Given the description of an element on the screen output the (x, y) to click on. 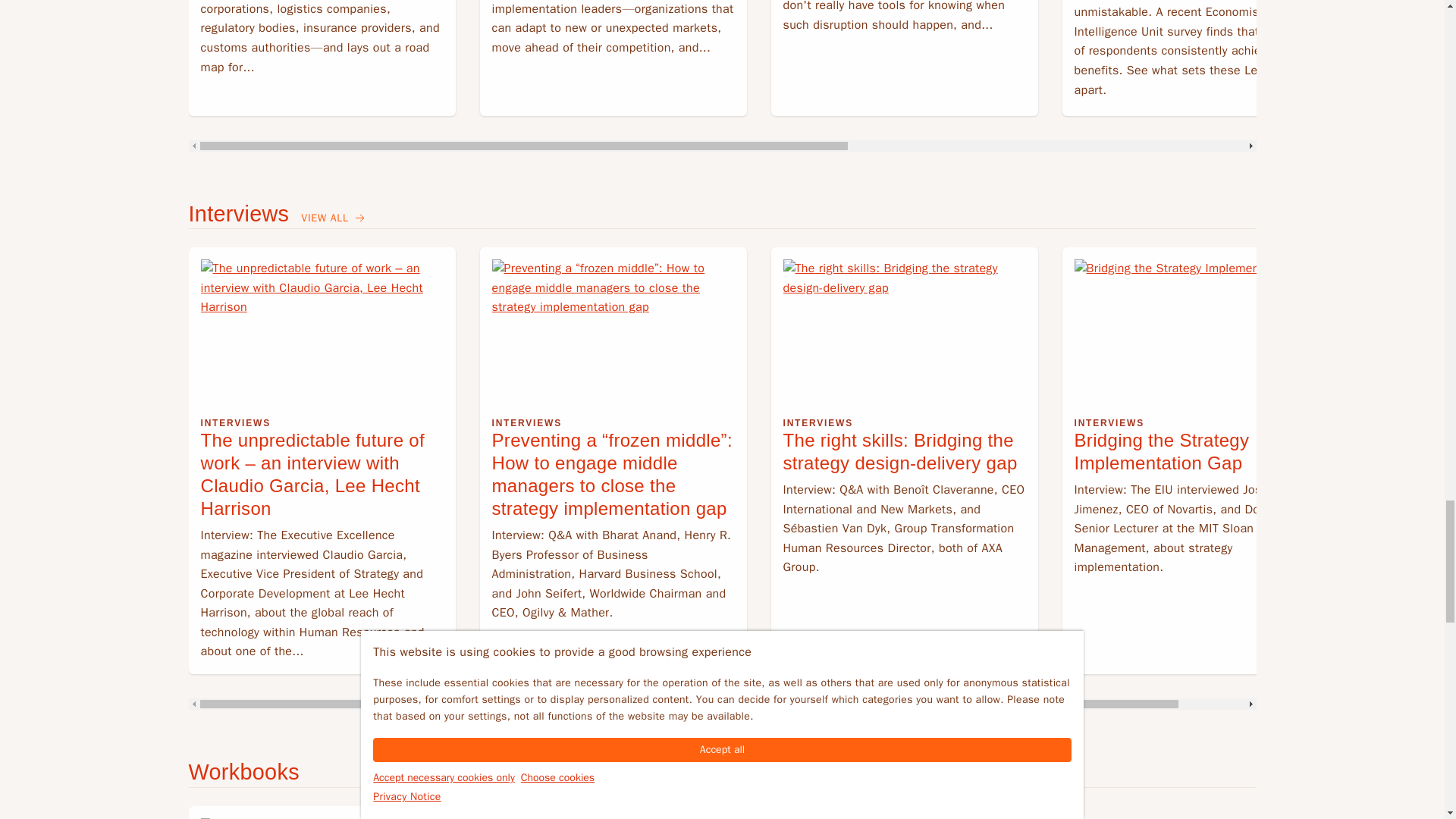
View all Interviews (333, 218)
